Given the description of an element on the screen output the (x, y) to click on. 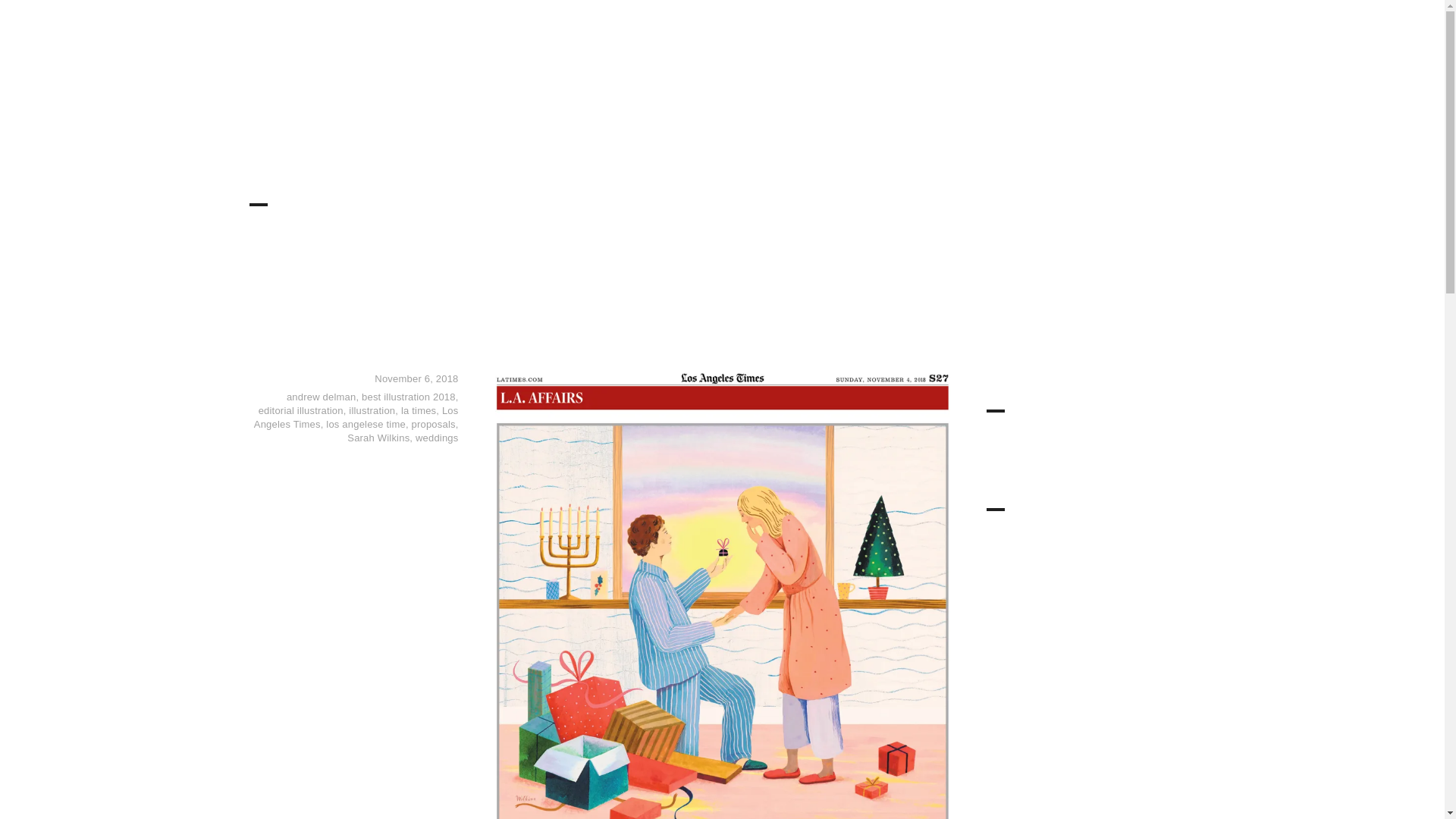
Home (709, 37)
weddings (436, 437)
SARAH WILKINS (325, 47)
la times (418, 410)
Sarah Wilkins (378, 437)
Contact (1100, 37)
Book Covers (891, 37)
editorial illustration (301, 410)
November 6, 2018 (416, 378)
About (1044, 37)
